Given the description of an element on the screen output the (x, y) to click on. 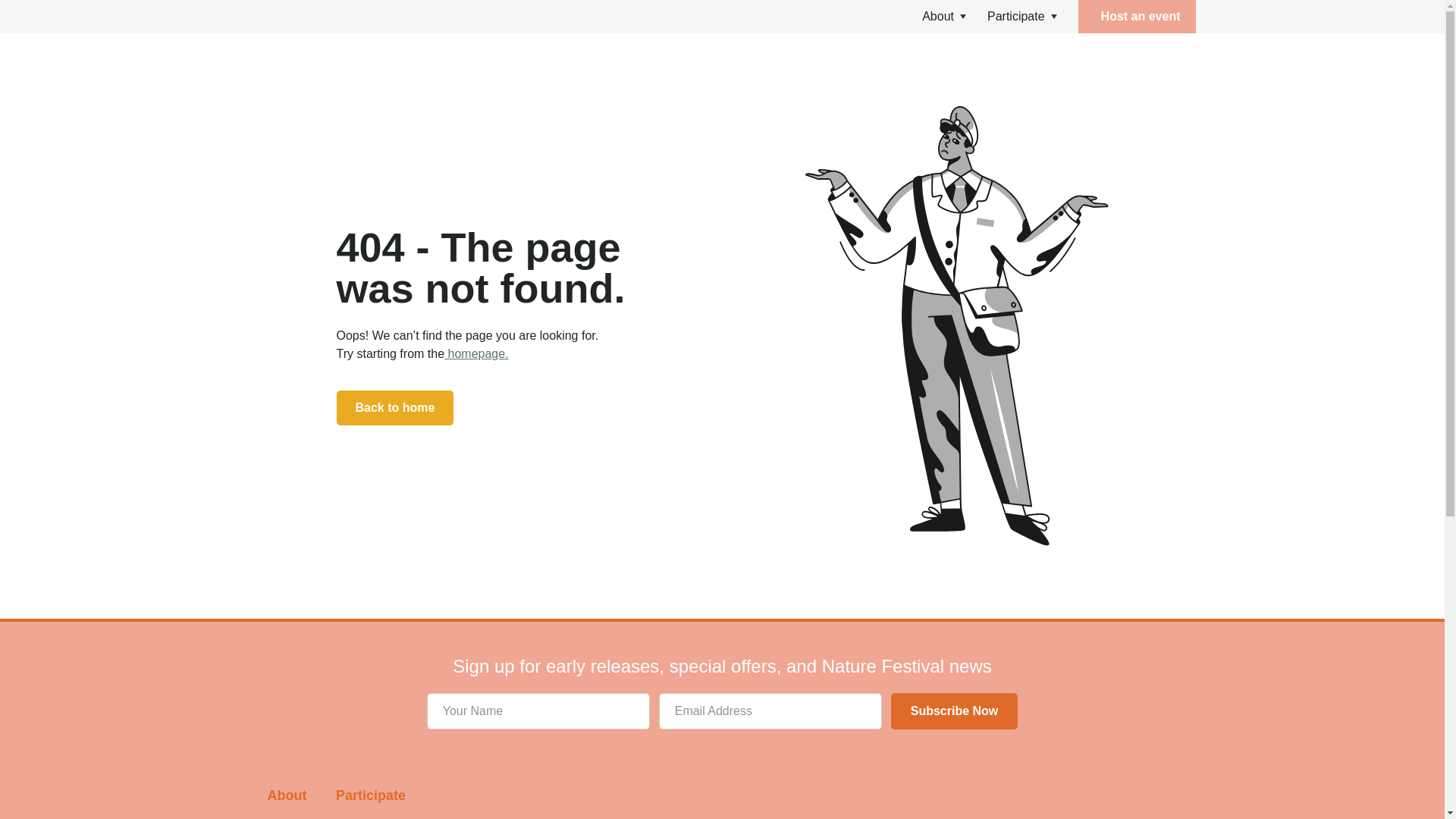
Subscribe Now (954, 710)
